Given the description of an element on the screen output the (x, y) to click on. 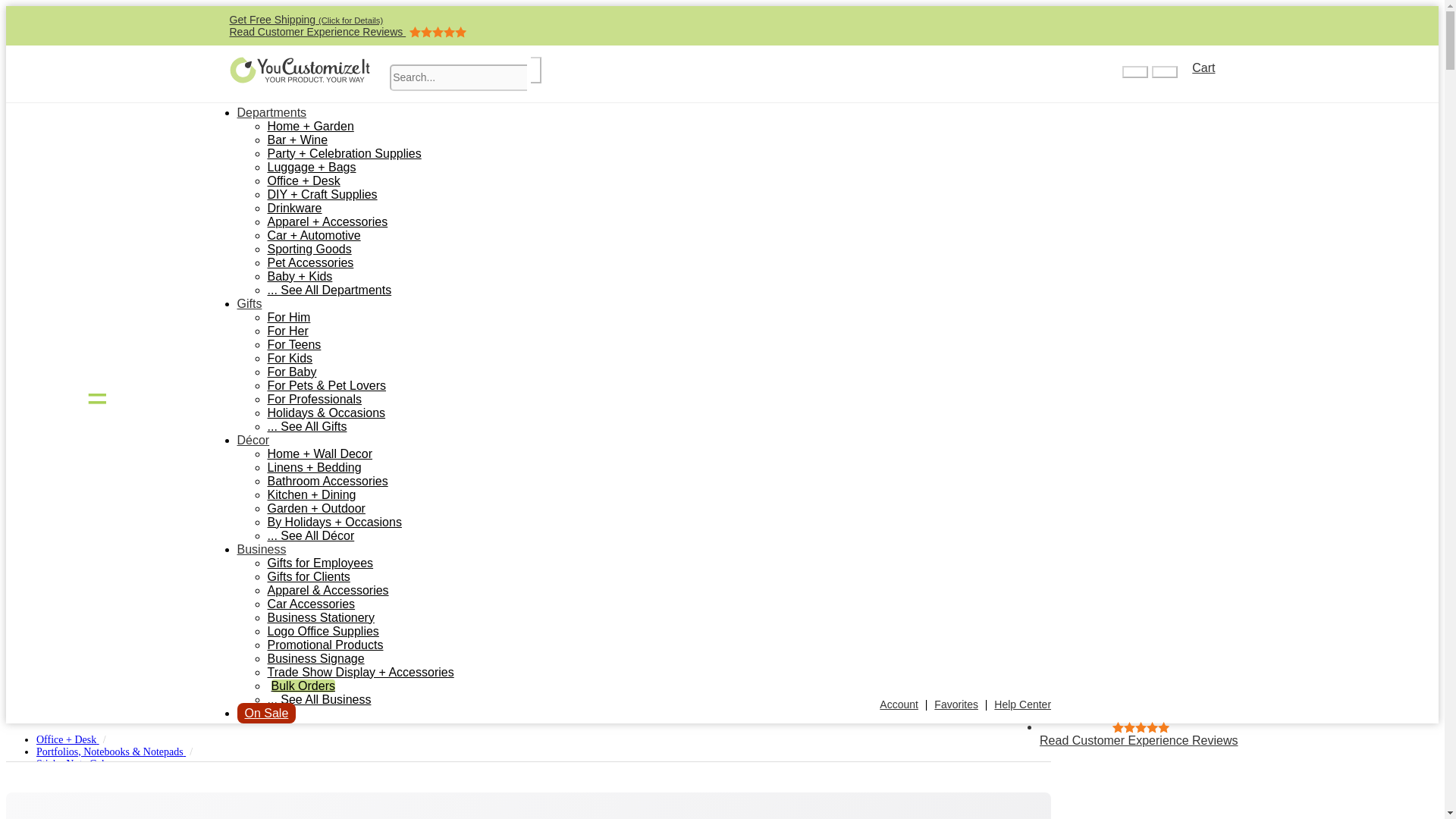
Gifts (248, 303)
Pet Accessories (309, 262)
For Him (288, 317)
... See All Gifts (306, 426)
... See All Departments (328, 289)
Sporting Goods (308, 248)
Departments (270, 112)
For Kids (289, 358)
Read Customer Experience Reviews (346, 31)
For Her (286, 330)
For Professionals (313, 399)
Bathroom Accessories (1197, 67)
For Baby (326, 481)
Business (290, 371)
